Given the description of an element on the screen output the (x, y) to click on. 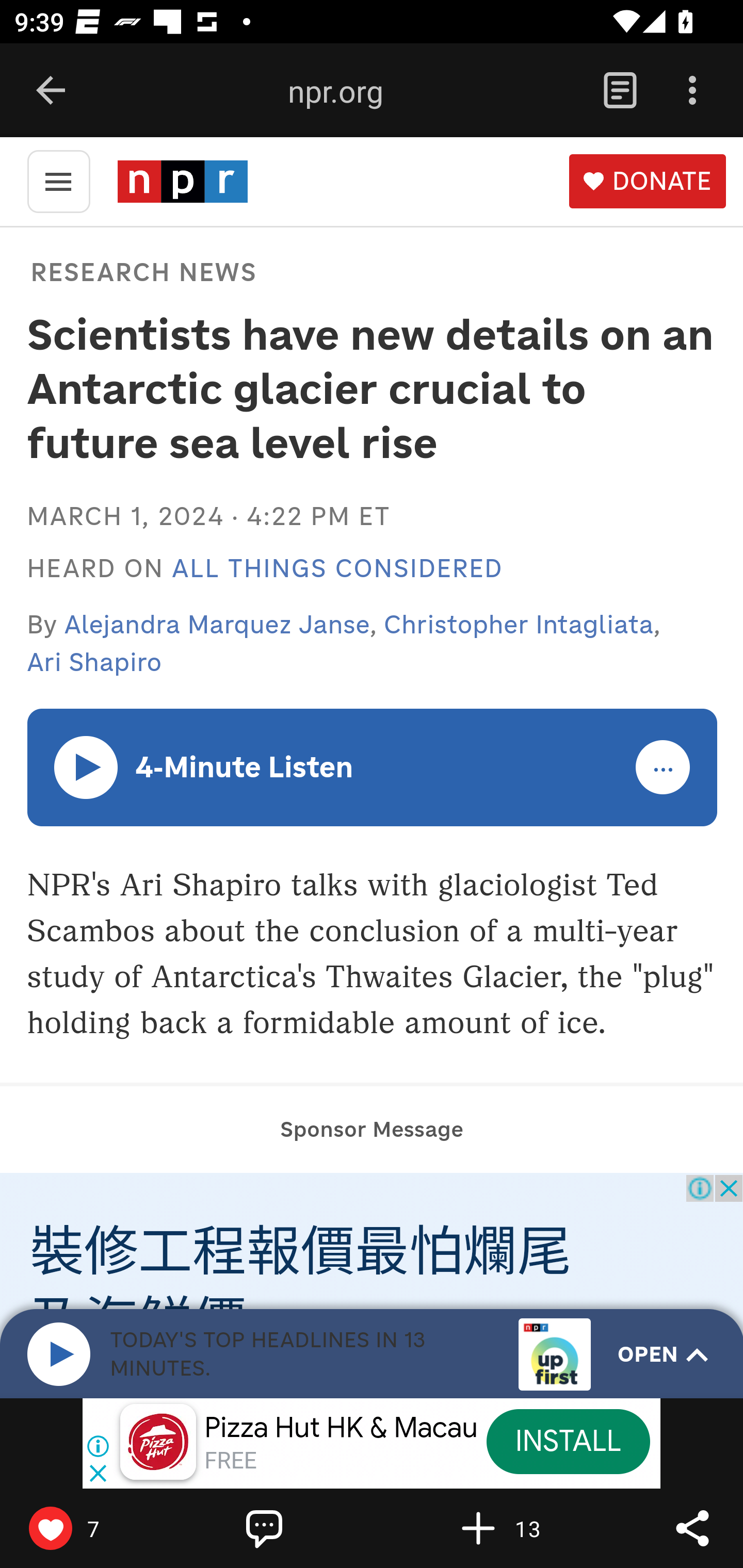
Back (50, 90)
Reader View (619, 90)
Options (692, 90)
Open Navigation Menu (58, 180)
DONATE (646, 181)
NPR logo (181, 180)
RESEARCH NEWS (142, 271)
MARCH 1, 2024 · 4:22 PM ET (208, 515)
ALL THINGS CONSIDERED (337, 568)
Alejandra Marquez Janse (217, 623)
Christopher Intagliata (518, 623)
Ari Shapiro (93, 662)
LISTEN· 4:24 (86, 766)
Toggle more options (663, 768)
Pizza Hut HK & Macau (340, 1428)
INSTALL (567, 1441)
FREE (230, 1461)
Like 7 (93, 1528)
Write a comment… (307, 1528)
Flip into Magazine 13 (521, 1528)
Share (692, 1528)
